Given the description of an element on the screen output the (x, y) to click on. 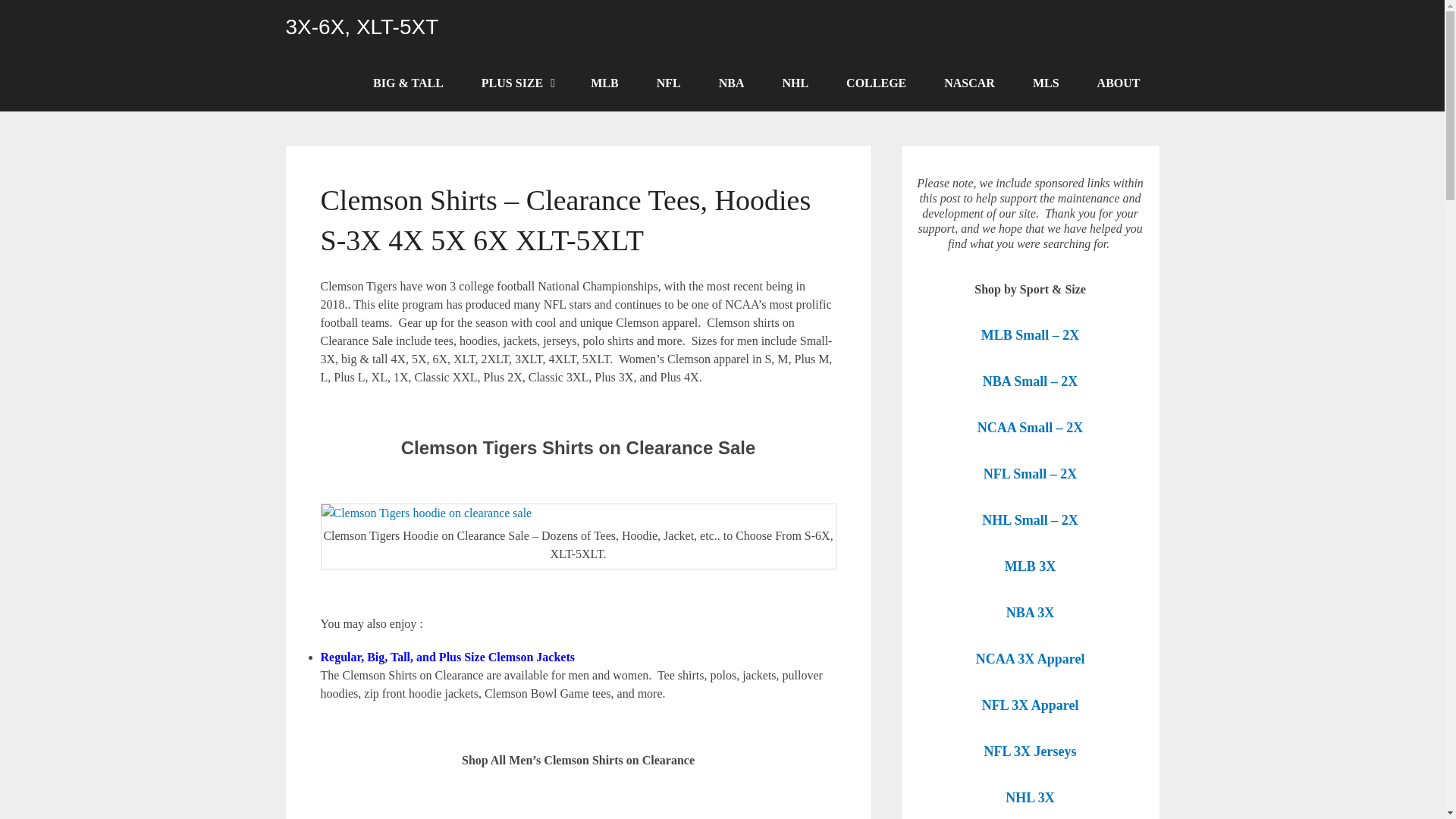
Regular, Big, Tall, and Plus Size Clemson Jackets Element type: text (447, 656)
BIG & TALL Element type: text (408, 83)
COLLEGE Element type: text (876, 83)
NHL 3X Element type: text (1029, 797)
NBA 3X Element type: text (1030, 612)
PLUS SIZE Element type: text (516, 83)
MLB 3X Element type: text (1030, 566)
NFL Element type: text (668, 83)
NBA Element type: text (731, 83)
NFL 3X Apparel Element type: text (1030, 705)
3X-6X, XLT-5XT Element type: text (361, 26)
ABOUT Element type: text (1118, 83)
NFL 3X Jerseys Element type: text (1030, 751)
NASCAR Element type: text (969, 83)
MLS Element type: text (1045, 83)
NCAA 3X Apparel Element type: text (1030, 658)
NHL Element type: text (794, 83)
MLB Element type: text (604, 83)
